Given the description of an element on the screen output the (x, y) to click on. 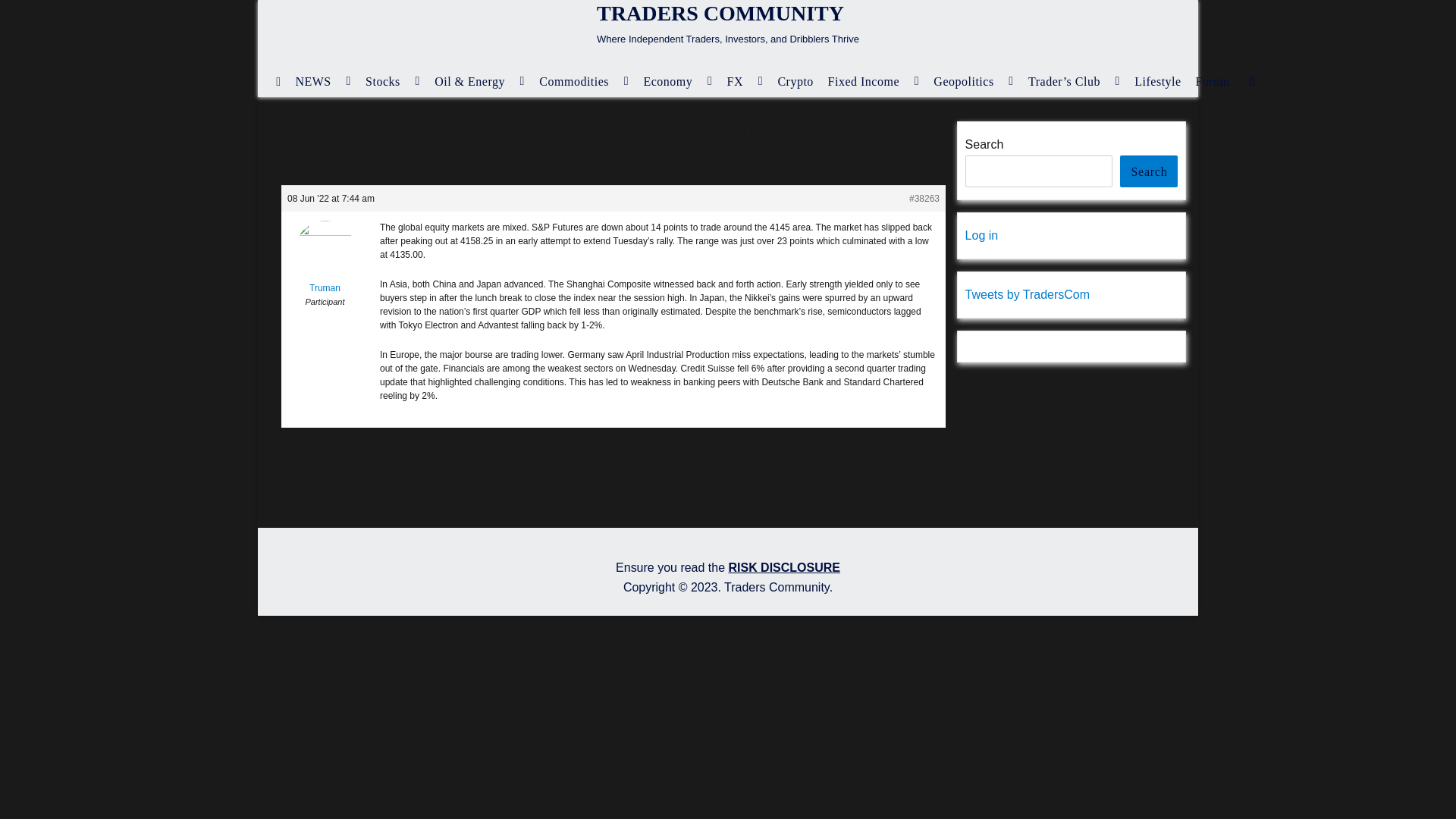
Stocks (393, 81)
Commodities (584, 81)
View Truman's profile (324, 267)
TRADERS COMMUNITY (720, 13)
FX (744, 81)
Economy (677, 81)
NEWS (323, 81)
